Given the description of an element on the screen output the (x, y) to click on. 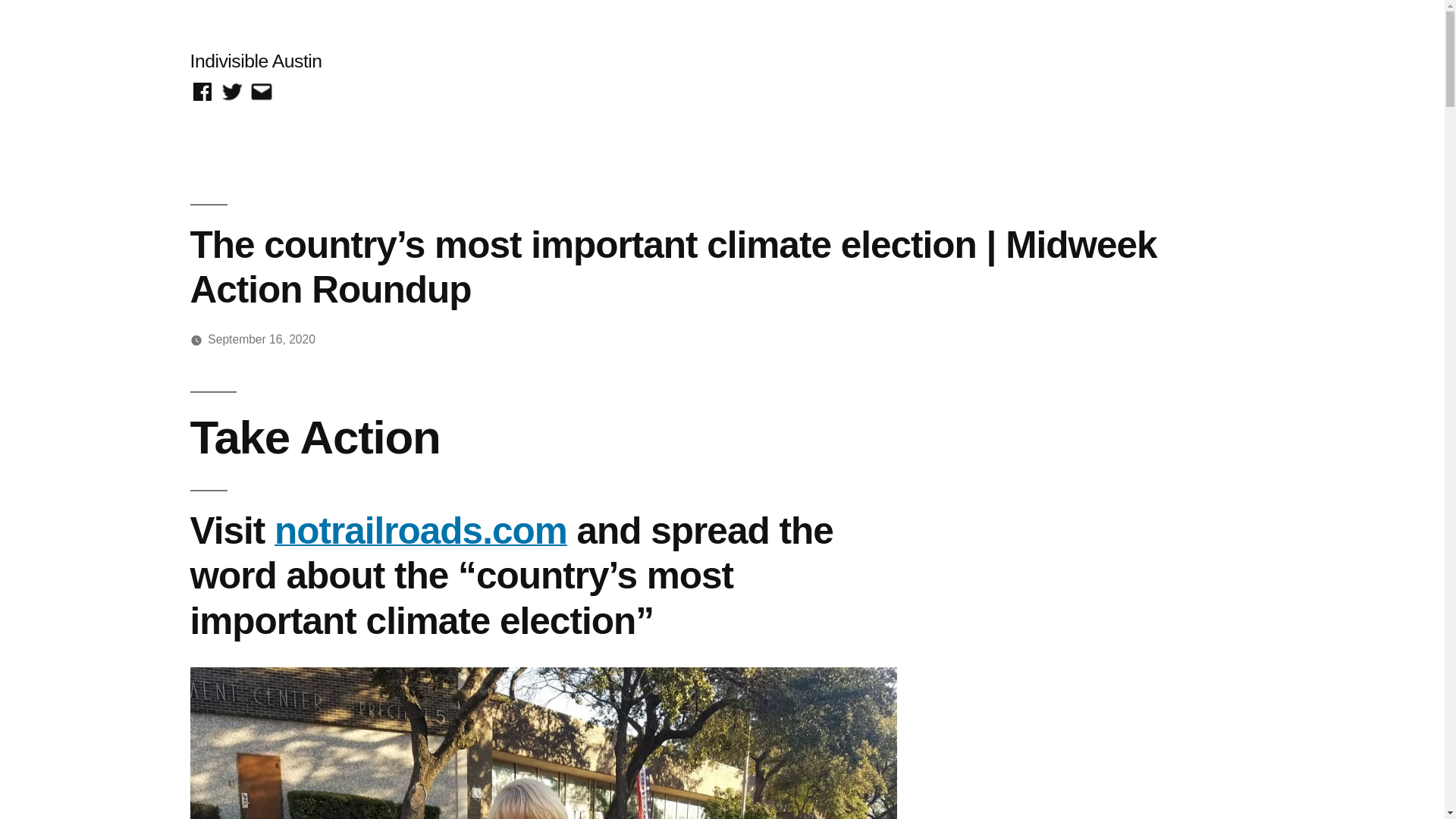
September 16, 2020 (261, 338)
notrailroads.com (421, 530)
Email (260, 91)
Twitter (231, 91)
Indivisible Austin (255, 60)
Facebook (201, 91)
